Given the description of an element on the screen output the (x, y) to click on. 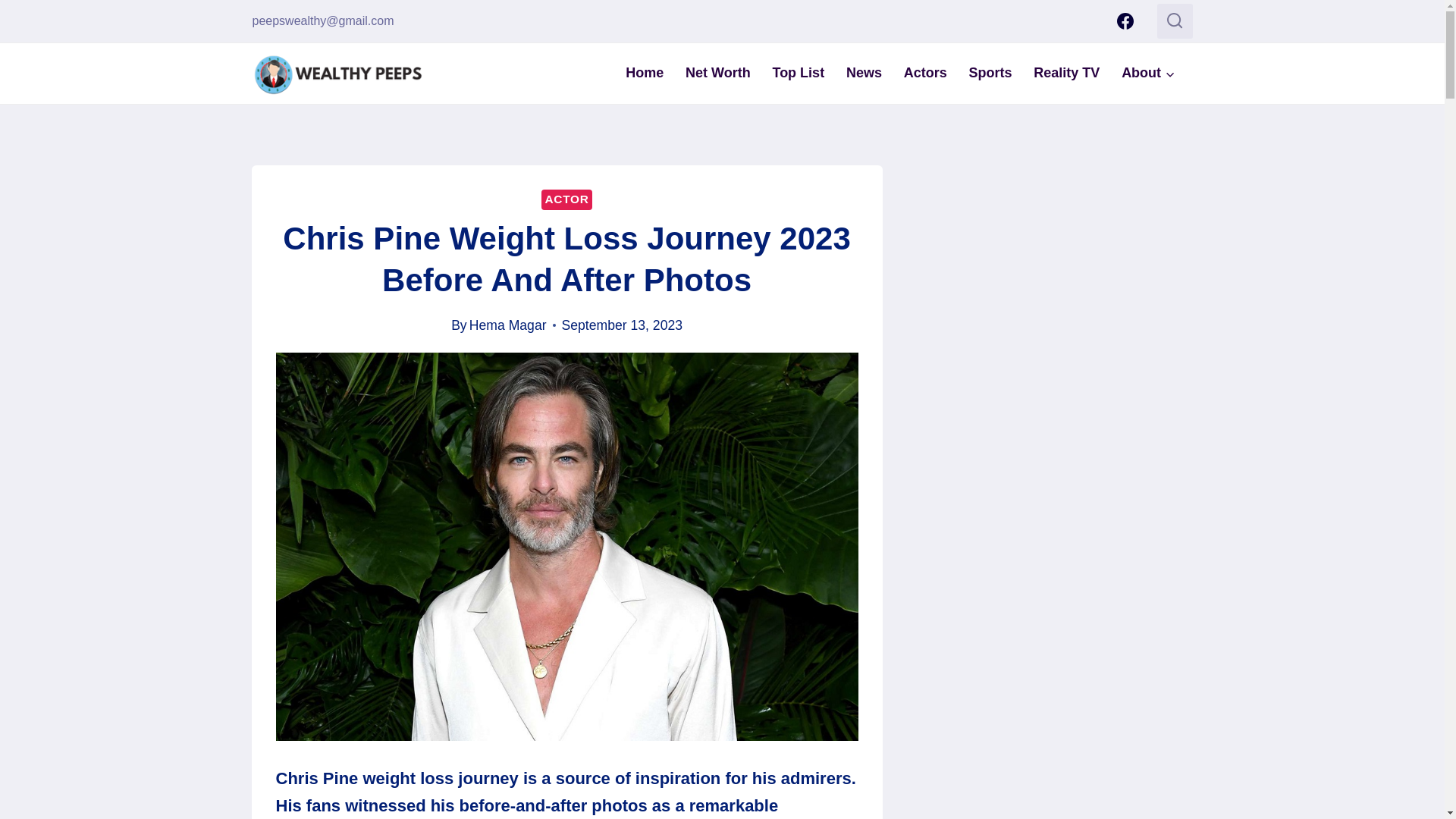
Hema Magar (507, 324)
Net Worth (718, 72)
Actors (925, 72)
Sports (990, 72)
Top List (797, 72)
ACTOR (566, 199)
Home (644, 72)
About (1148, 72)
News (864, 72)
Reality TV (1066, 72)
